Given the description of an element on the screen output the (x, y) to click on. 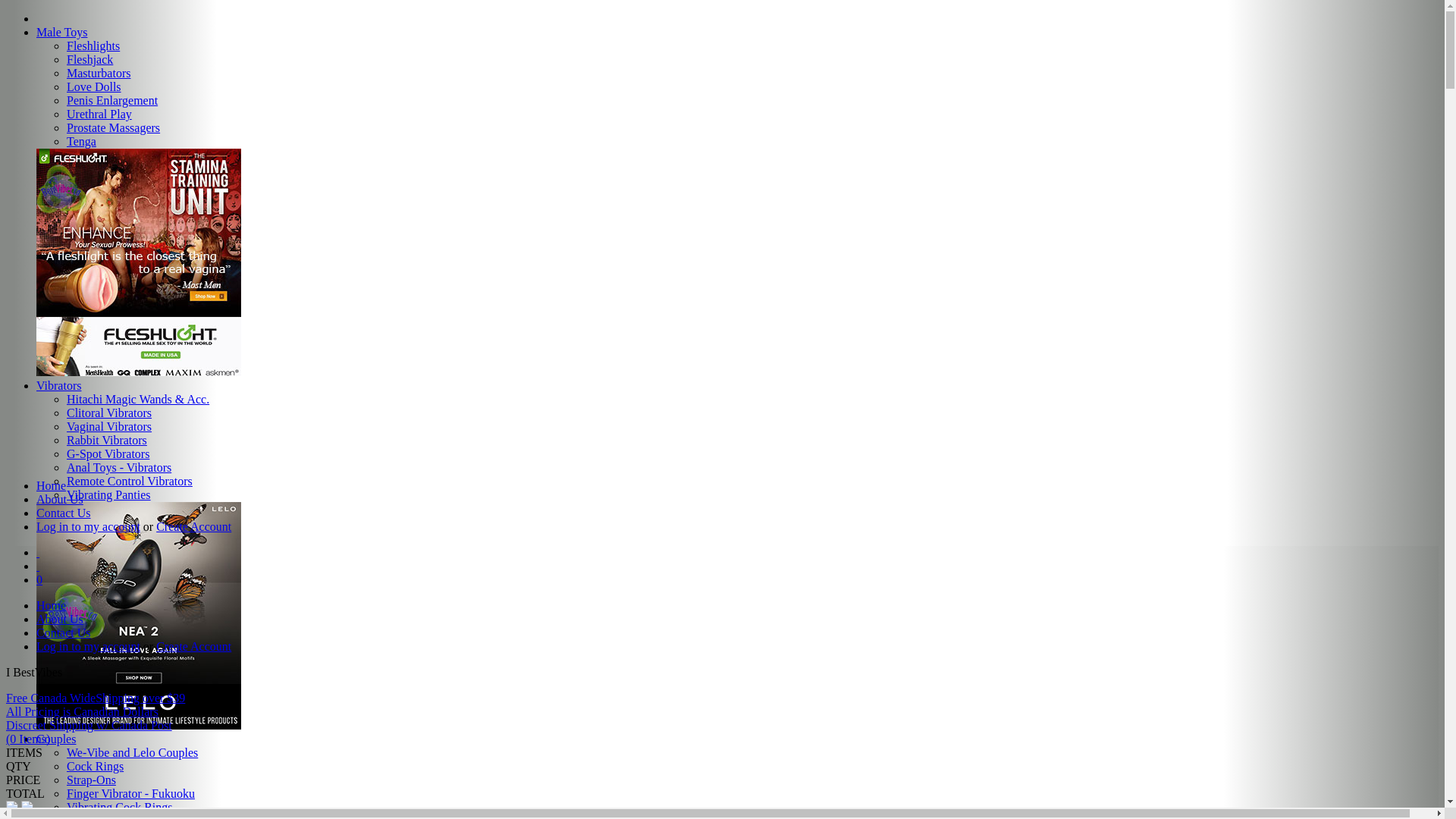
Urethral Play Element type: text (98, 113)
Free Canada WideShipping over $39 Element type: text (95, 697)
(0 Items) Element type: text (28, 738)
  Element type: text (37, 552)
Male Toys Element type: text (61, 31)
Finger Vibrator - Fukuoku Element type: text (130, 793)
Cock Rings Element type: text (94, 765)
Anal Toys - Vibrators Element type: text (118, 467)
Love Dolls Element type: text (93, 86)
Create Account Element type: text (193, 646)
Home Element type: text (50, 485)
Log in to my account Element type: text (88, 646)
Tenga Element type: text (81, 140)
Vaginal Vibrators Element type: text (108, 426)
Fleshlights Element type: text (92, 45)
Home Element type: text (50, 605)
Rabbit Vibrators Element type: text (106, 439)
Create Account Element type: text (193, 526)
Discreet Shipping w/ Canada Post Element type: text (89, 724)
We-Vibe and Lelo Couples Element type: text (131, 752)
G-Spot Vibrators Element type: text (107, 453)
  Element type: text (37, 565)
About Us Element type: text (59, 498)
Strap-Ons Element type: text (91, 779)
Clitoral Vibrators Element type: text (108, 412)
Couples Element type: text (55, 738)
All Pricing is Canadian Dollars Element type: text (82, 711)
Contact Us Element type: text (63, 632)
0 Element type: text (39, 579)
Remote Control Vibrators Element type: text (129, 480)
Masturbators Element type: text (98, 72)
Penis Enlargement Element type: text (111, 100)
Vibrating Cock Rings Element type: text (119, 806)
Vibrators Element type: text (58, 385)
Fleshjack Element type: text (89, 59)
Hitachi Magic Wands & Acc. Element type: text (137, 398)
Vibrating Panties Element type: text (108, 494)
About Us Element type: text (59, 618)
Prostate Massagers Element type: text (113, 127)
Log in to my account Element type: text (88, 526)
Contact Us Element type: text (63, 512)
